Given the description of an element on the screen output the (x, y) to click on. 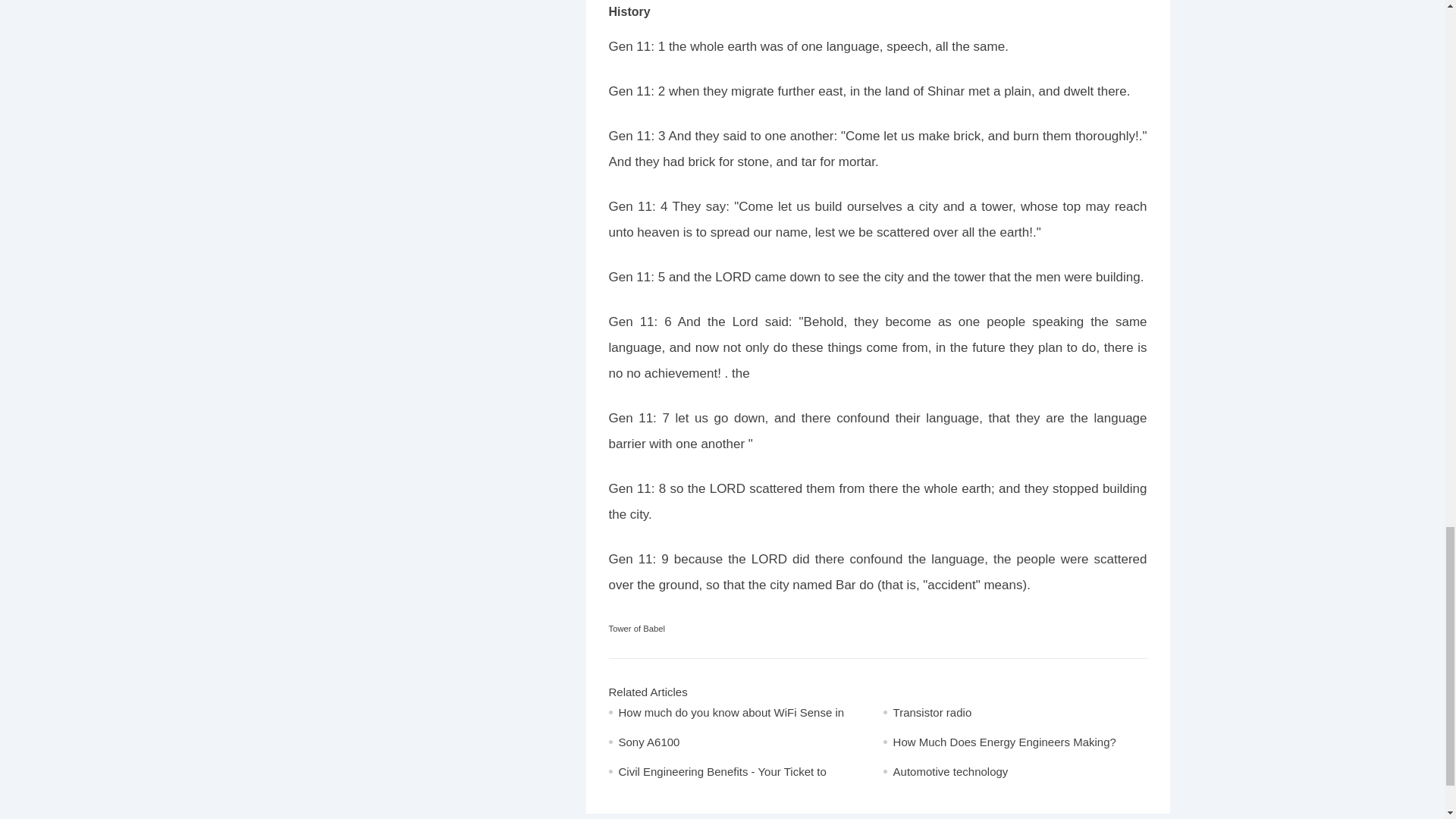
Transistor radio (932, 712)
Automotive technology (951, 771)
Civil Engineering Benefits - Your Ticket to Success (722, 781)
How Much Does Energy Engineers Making? (1004, 741)
How much do you know about WiFi Sense in Windows 10? (731, 722)
Sony A6100 (648, 741)
